Given the description of an element on the screen output the (x, y) to click on. 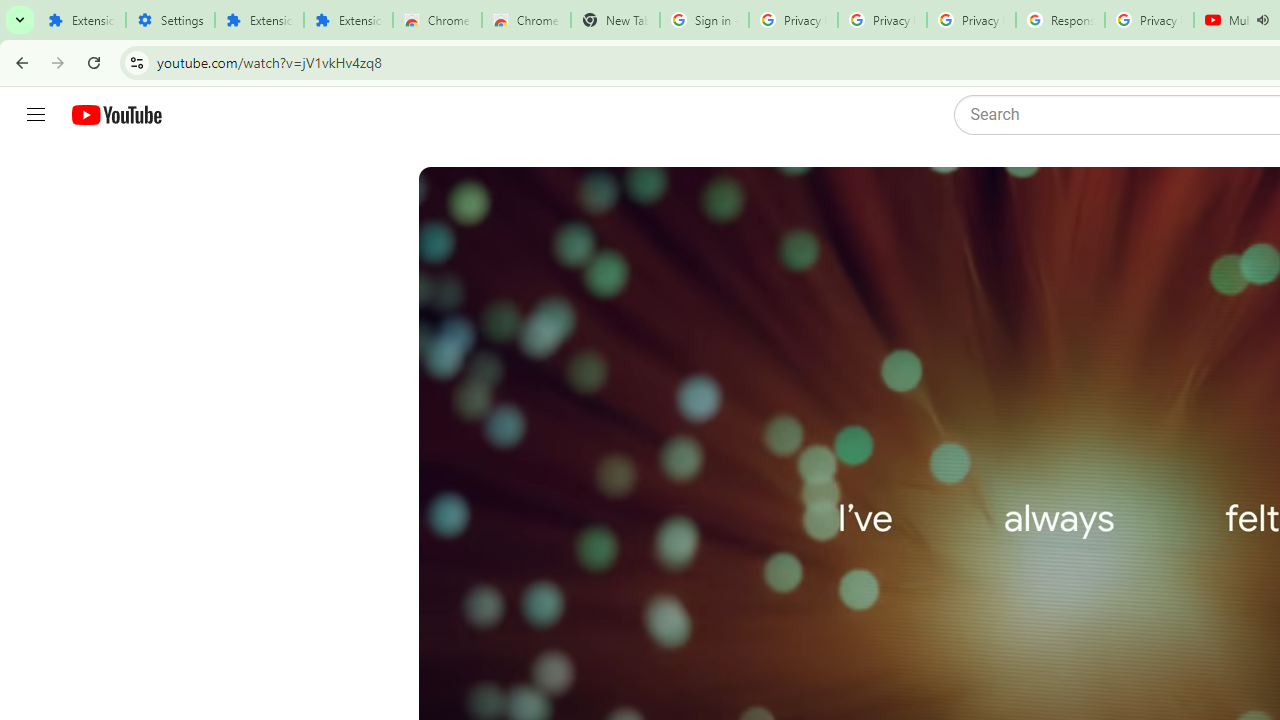
Mute tab (1262, 20)
Chrome Web Store - Themes (526, 20)
Extensions (81, 20)
Extensions (347, 20)
Sign in - Google Accounts (704, 20)
New Tab (615, 20)
YouTube Home (116, 115)
Settings (170, 20)
